Given the description of an element on the screen output the (x, y) to click on. 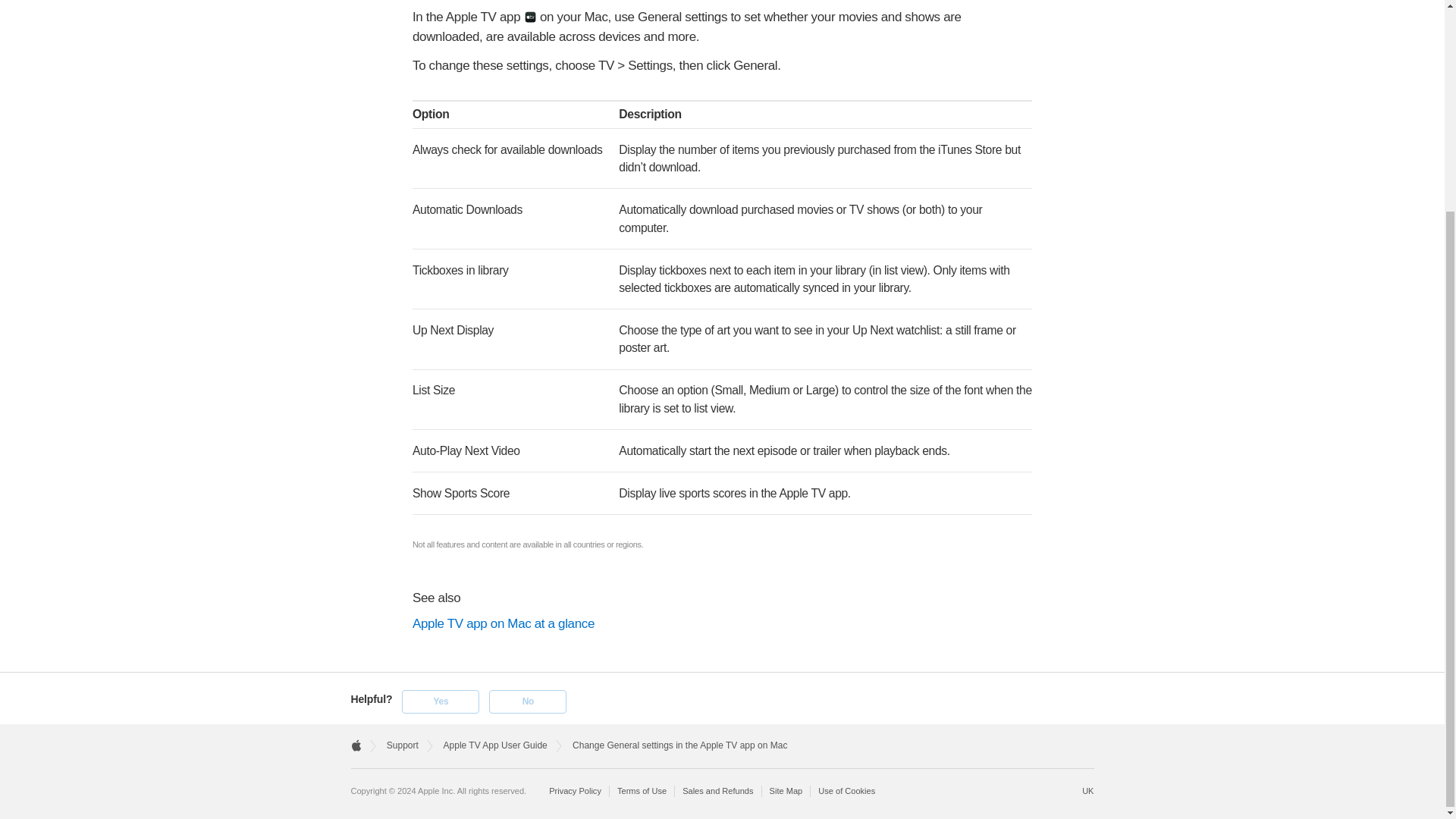
Solved my problem (440, 701)
Not helpful (527, 701)
Choose your country or region (1087, 790)
